Given the description of an element on the screen output the (x, y) to click on. 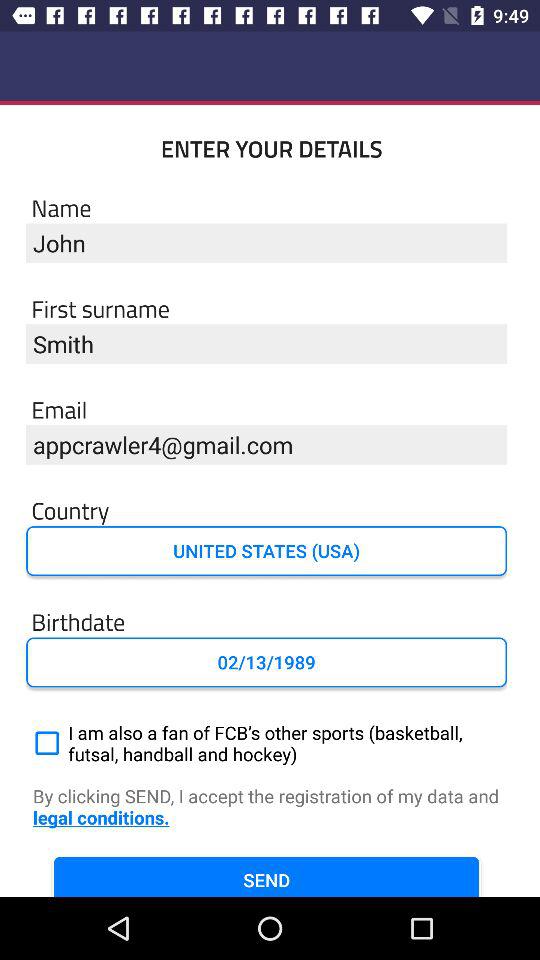
open the icon below i am also (270, 807)
